Given the description of an element on the screen output the (x, y) to click on. 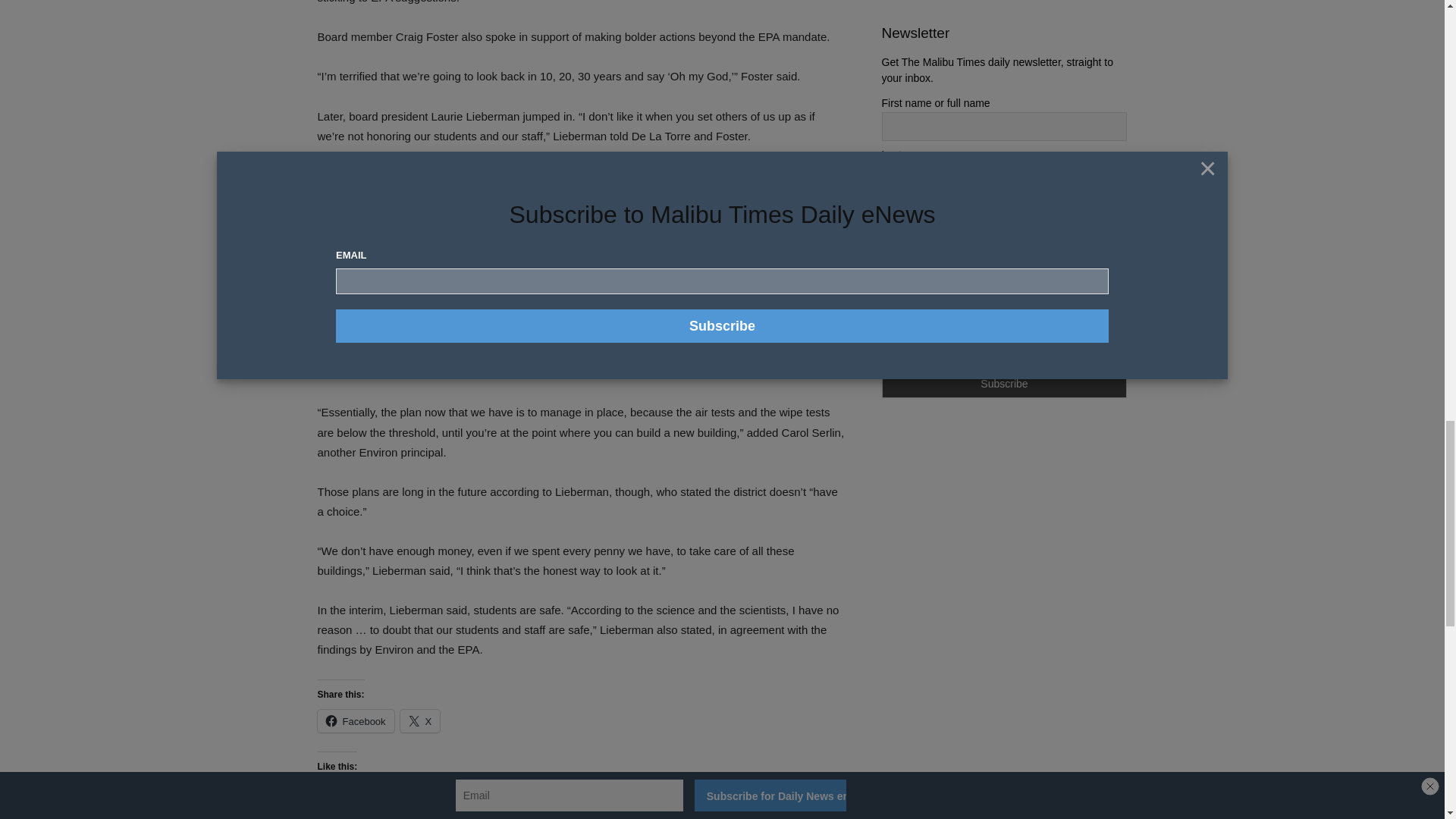
Click to share on Facebook (355, 721)
6 (885, 351)
5 (885, 327)
4 (885, 304)
2 (885, 256)
3 (885, 280)
Subscribe (1003, 383)
